Given the description of an element on the screen output the (x, y) to click on. 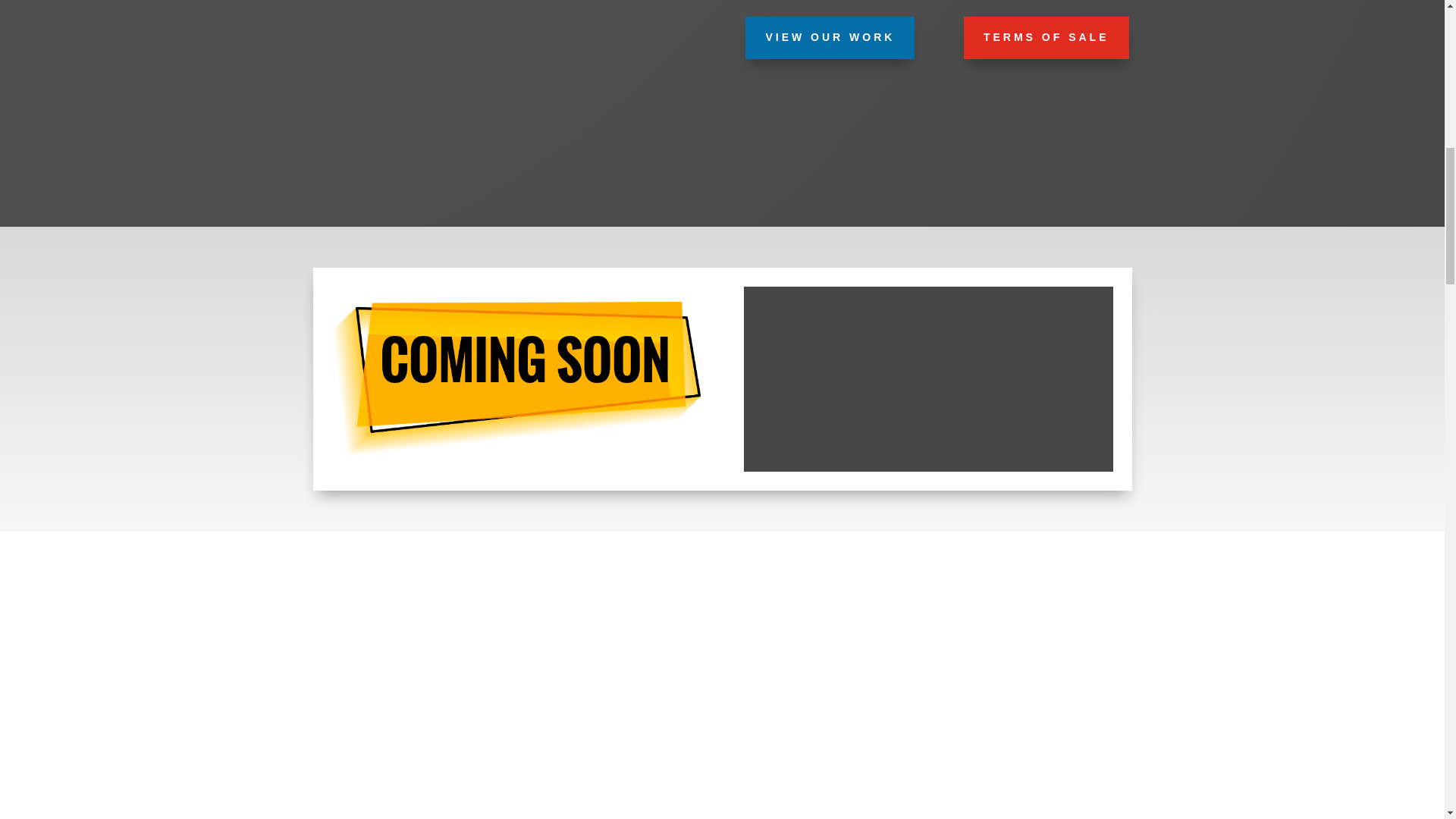
VIEW OUR WORK (829, 37)
vikingAsset 1home-top (516, 378)
TERMS OF SALE (1046, 37)
